Given the description of an element on the screen output the (x, y) to click on. 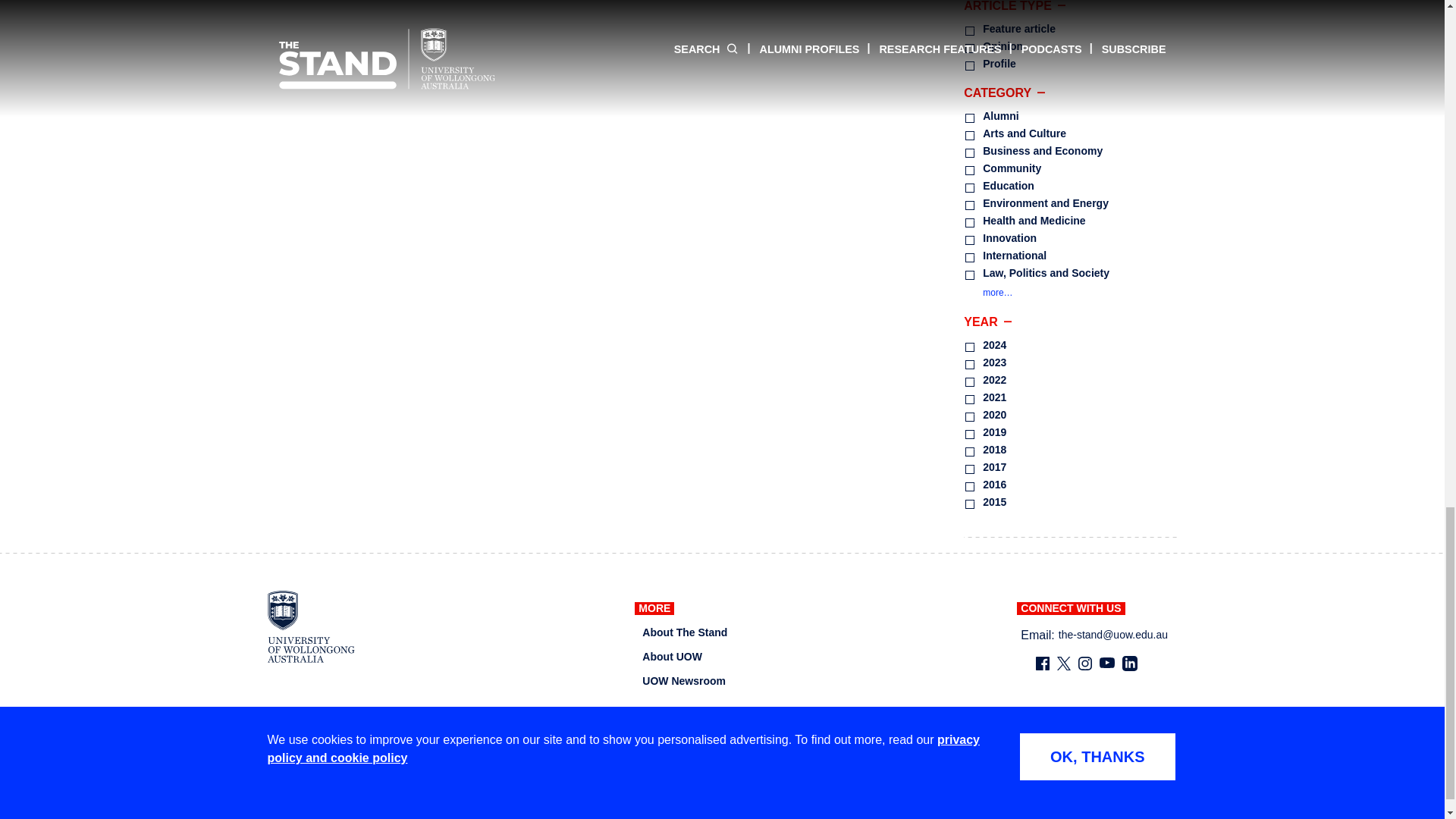
Facebook (1042, 663)
Instagram (1085, 663)
X - formerly known as twitter (1063, 663)
About UOW (671, 656)
LinkedIn (1129, 663)
About The Stand (684, 632)
Web Accessibility Statement (1110, 810)
UOW Newsroom (683, 680)
YouTube (1107, 663)
